Given the description of an element on the screen output the (x, y) to click on. 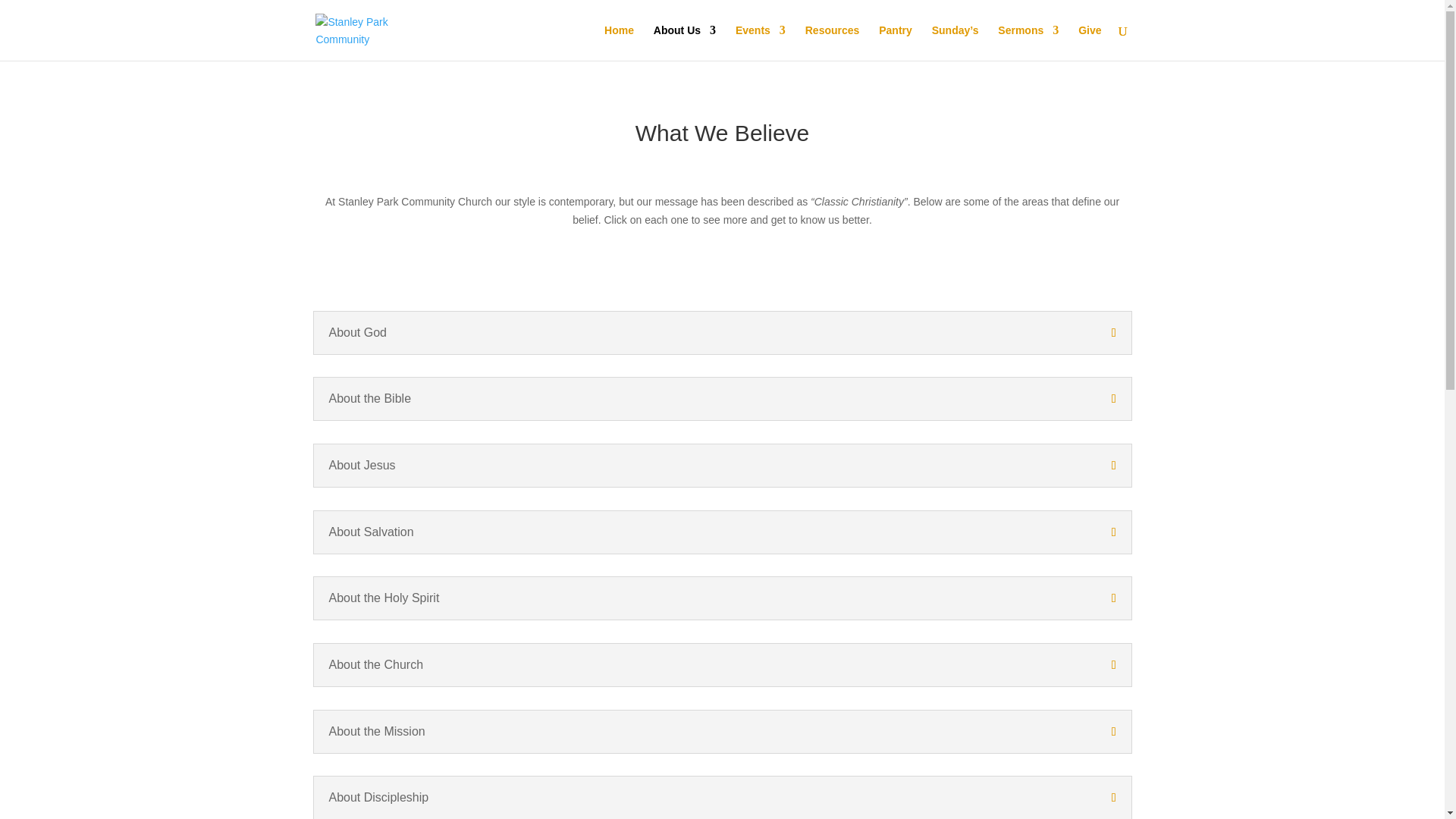
Events (760, 42)
Resources (832, 42)
About Us (684, 42)
Pantry (895, 42)
Sermons (1027, 42)
